Given the description of an element on the screen output the (x, y) to click on. 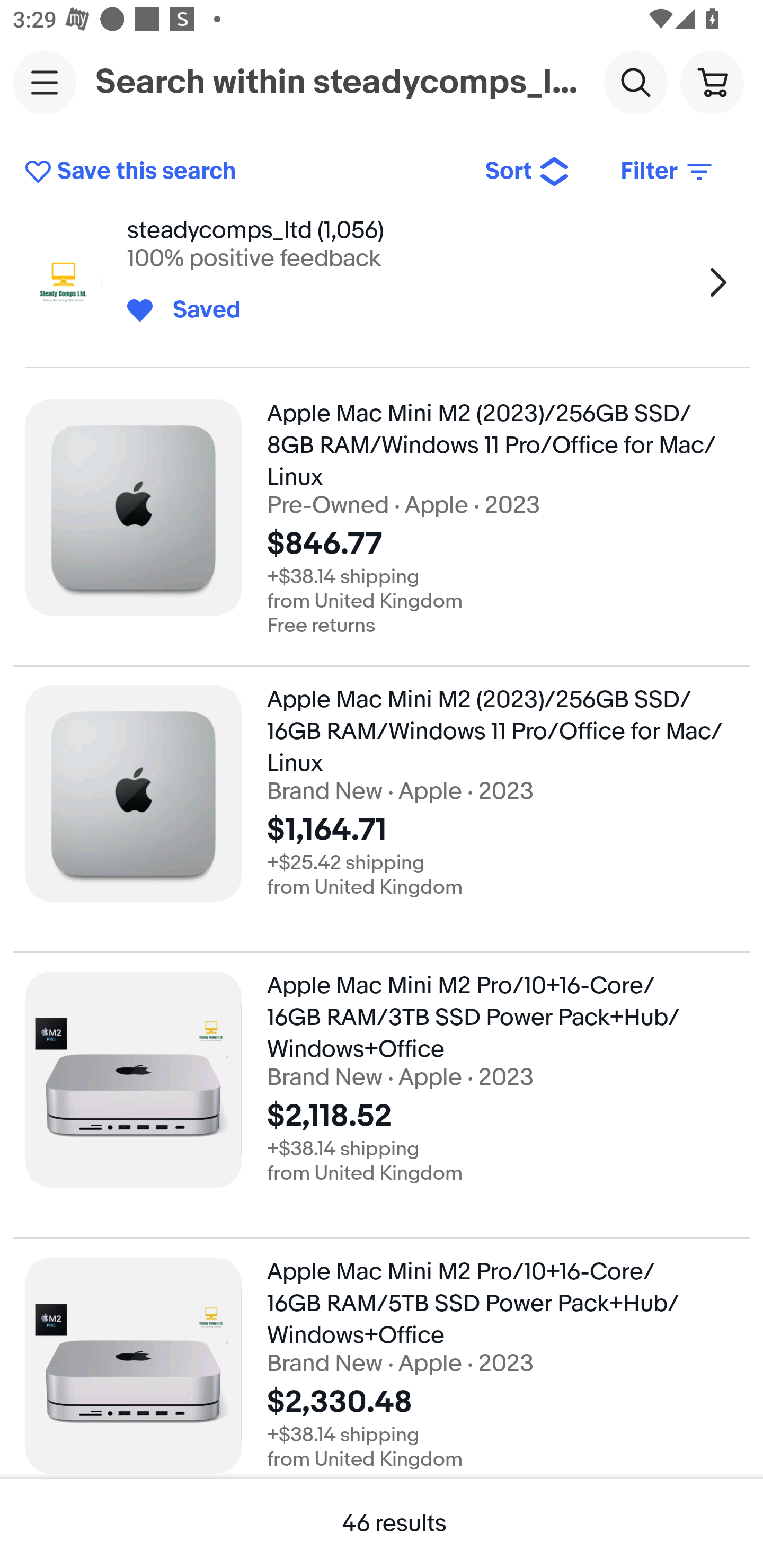
Main navigation, open (44, 82)
Search (635, 81)
Cart button shopping cart (711, 81)
Save this search (241, 171)
Sort (527, 171)
Filter (667, 171)
Saved (197, 310)
